Given the description of an element on the screen output the (x, y) to click on. 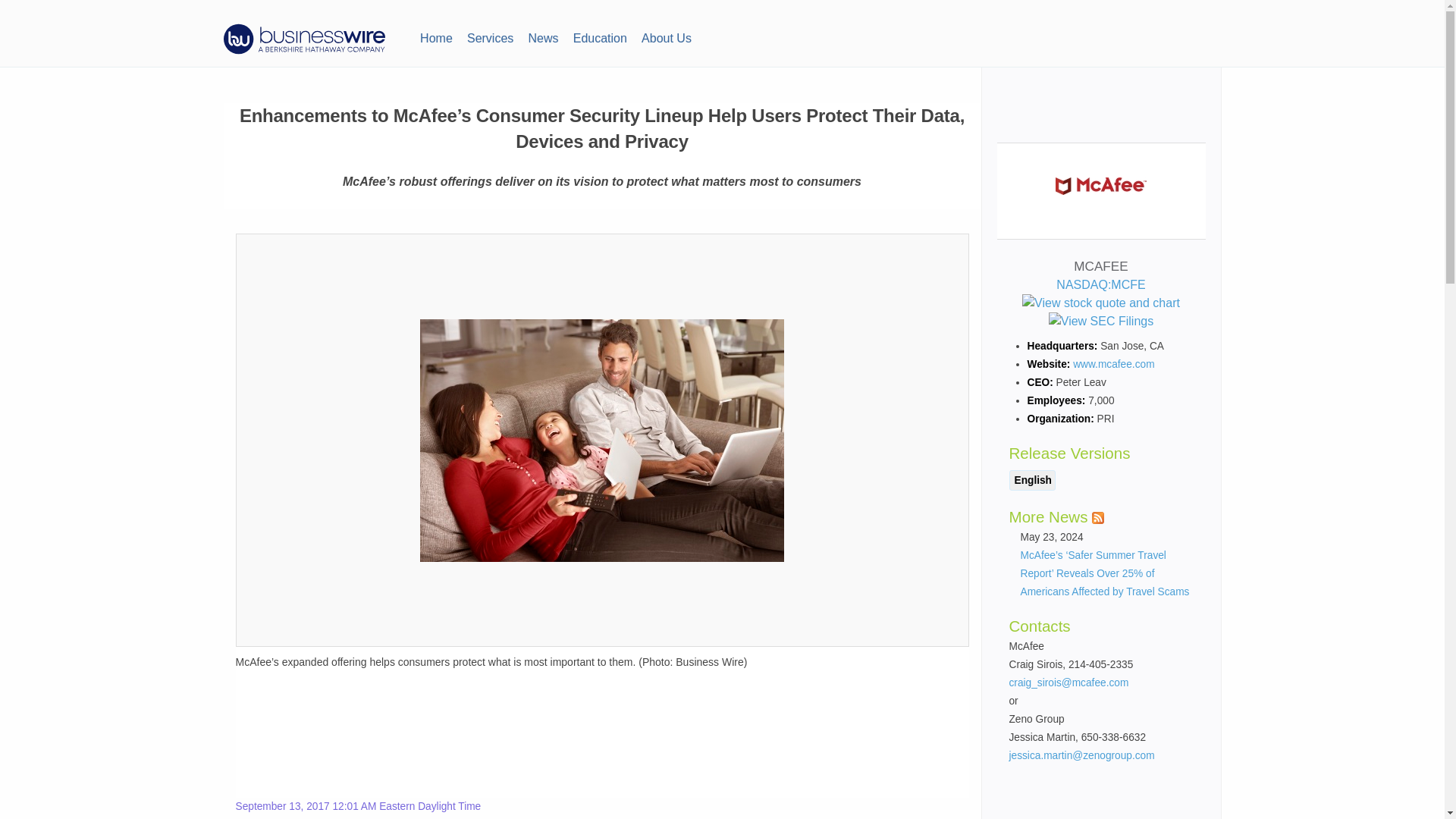
NASDAQ:MCFE (1100, 293)
Services (490, 36)
View SEC Filings (1100, 321)
Home (436, 36)
www.mcafee.com (1113, 364)
View stock quote and chart (1100, 303)
